Given the description of an element on the screen output the (x, y) to click on. 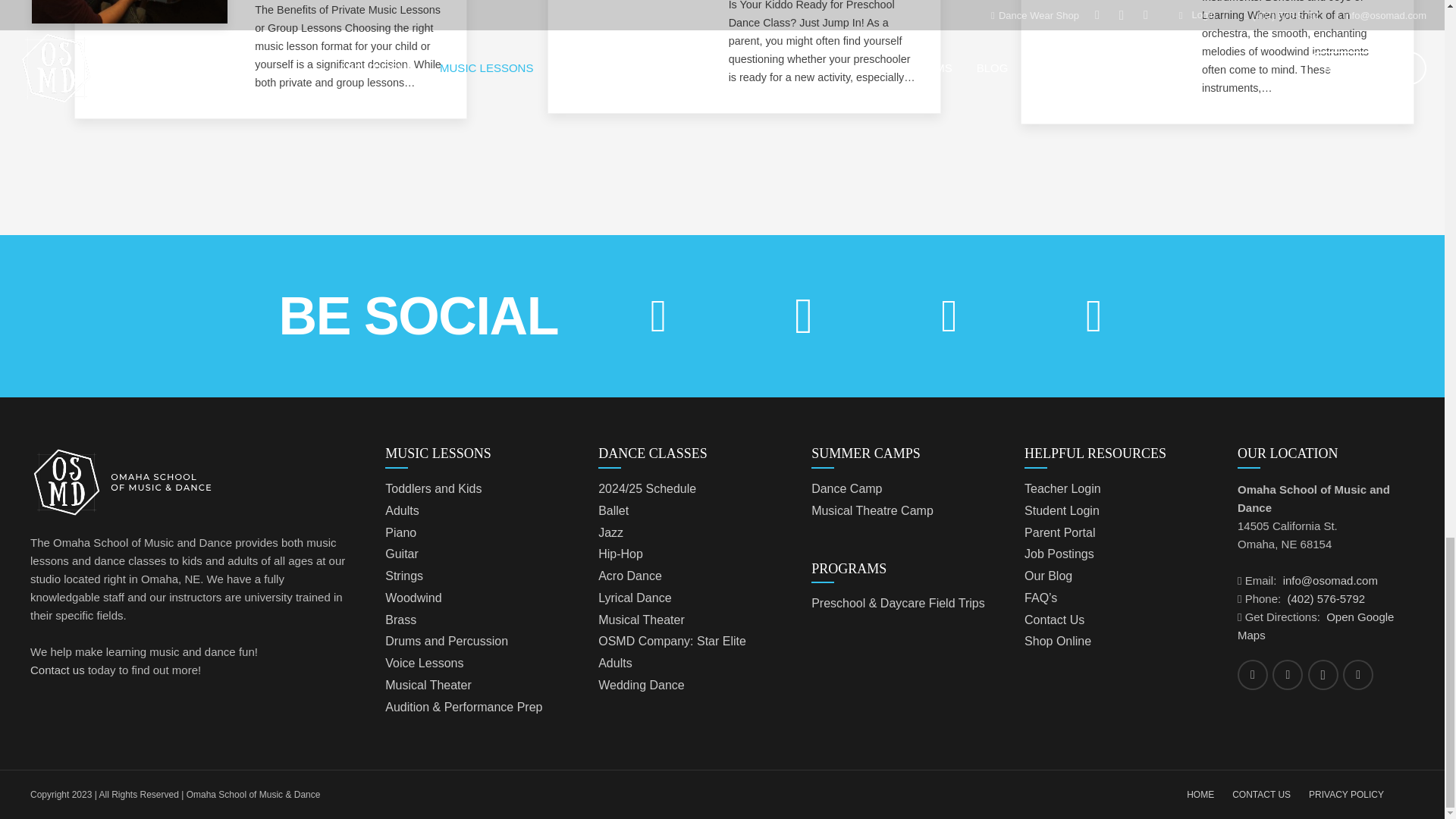
Twitter (949, 316)
Instagram (1322, 675)
Twitter (1287, 675)
Facebook (658, 316)
YouTube (1357, 675)
Facebook (1252, 675)
YouTube (1094, 316)
Instagram (803, 316)
